Given the description of an element on the screen output the (x, y) to click on. 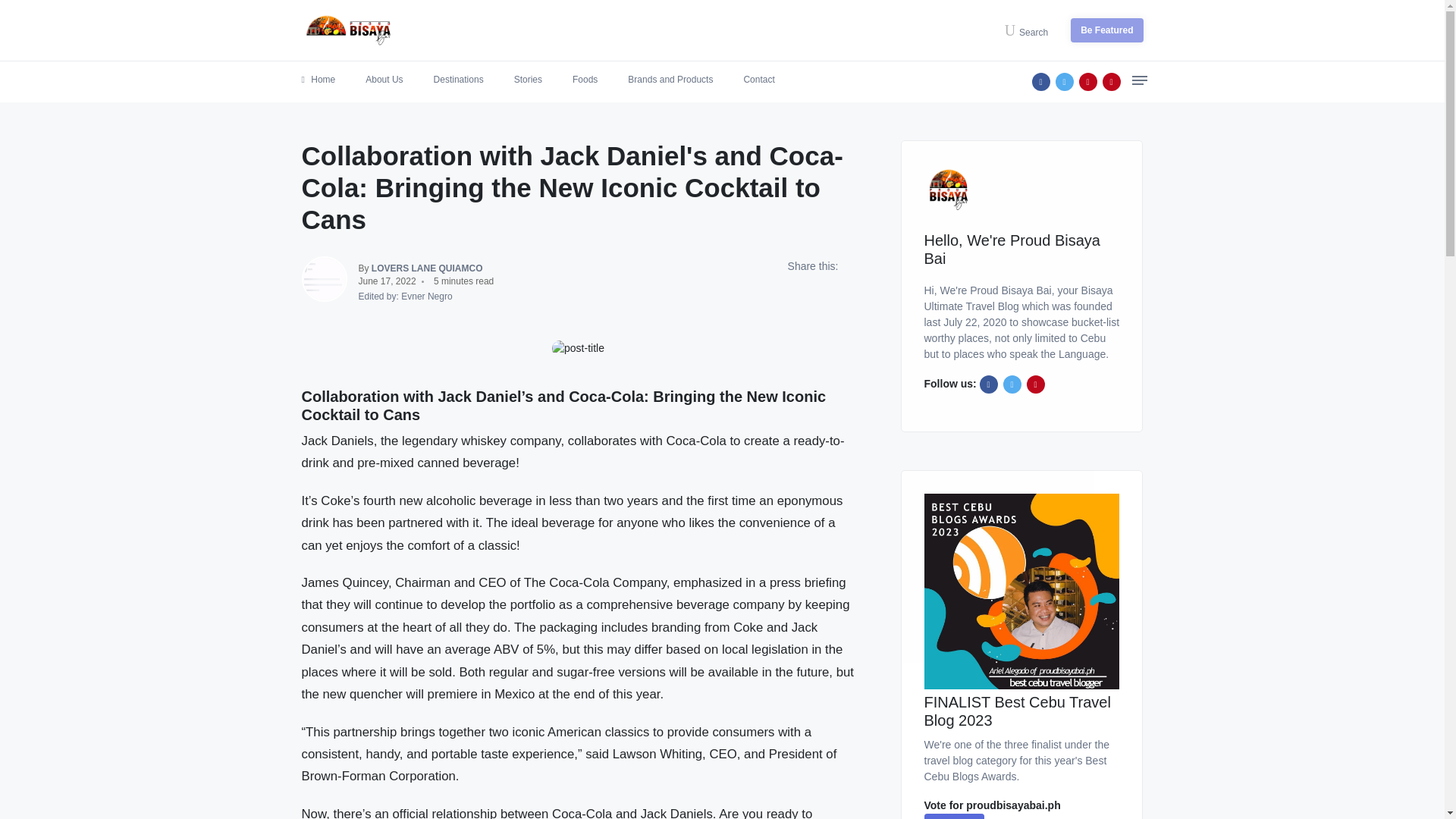
Facebook (988, 384)
Be Featured (1106, 30)
About Us (384, 79)
YT Channel (1111, 81)
Tweet now (1012, 384)
Tweet now (1064, 81)
Facebook (1039, 81)
Search (1031, 29)
Home (318, 79)
Brands and Products (670, 79)
Destinations (458, 79)
Instagram (1087, 81)
Pin it (1035, 384)
